Given the description of an element on the screen output the (x, y) to click on. 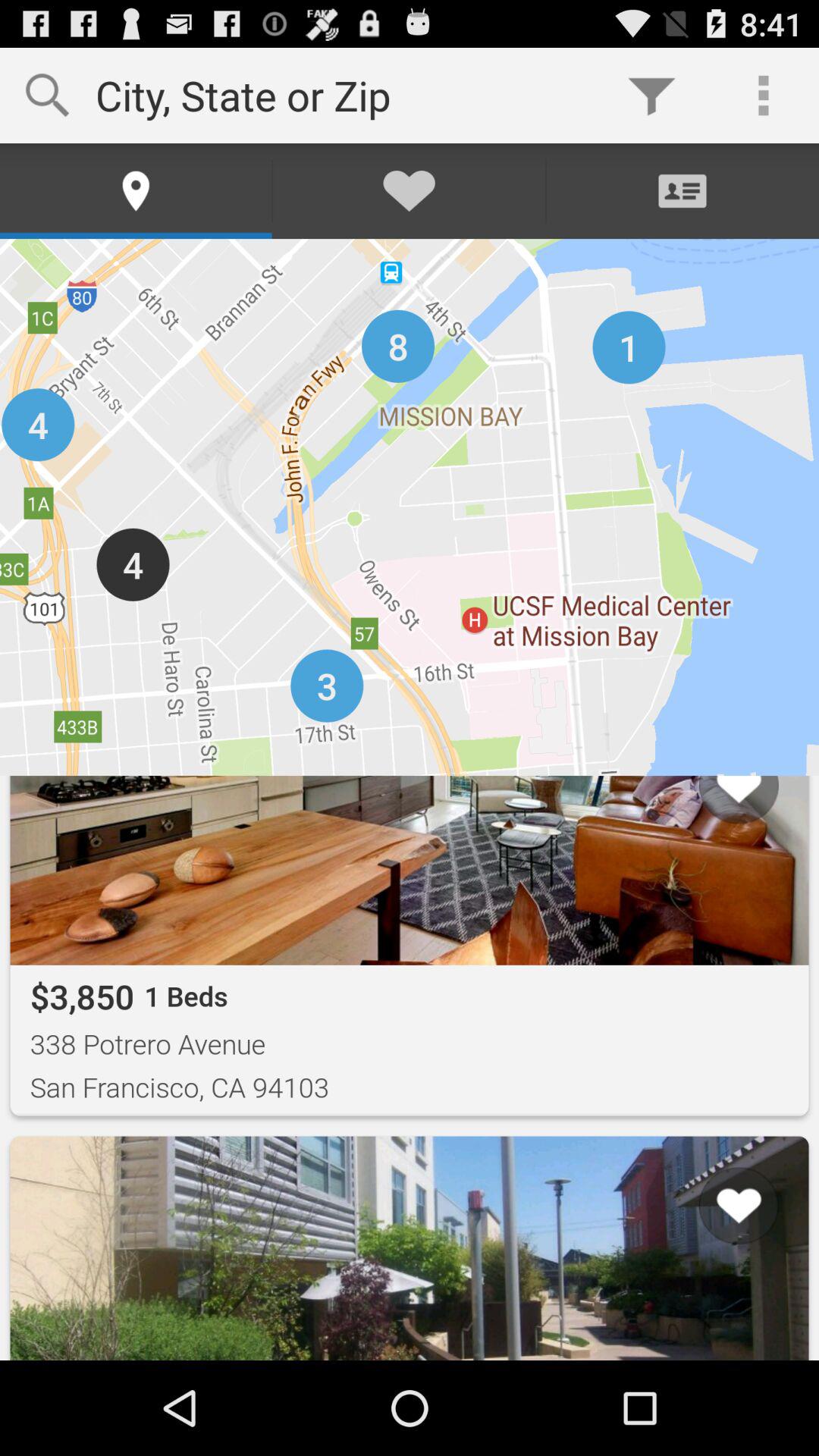
tap item to the left of the list item (57, 1302)
